Given the description of an element on the screen output the (x, y) to click on. 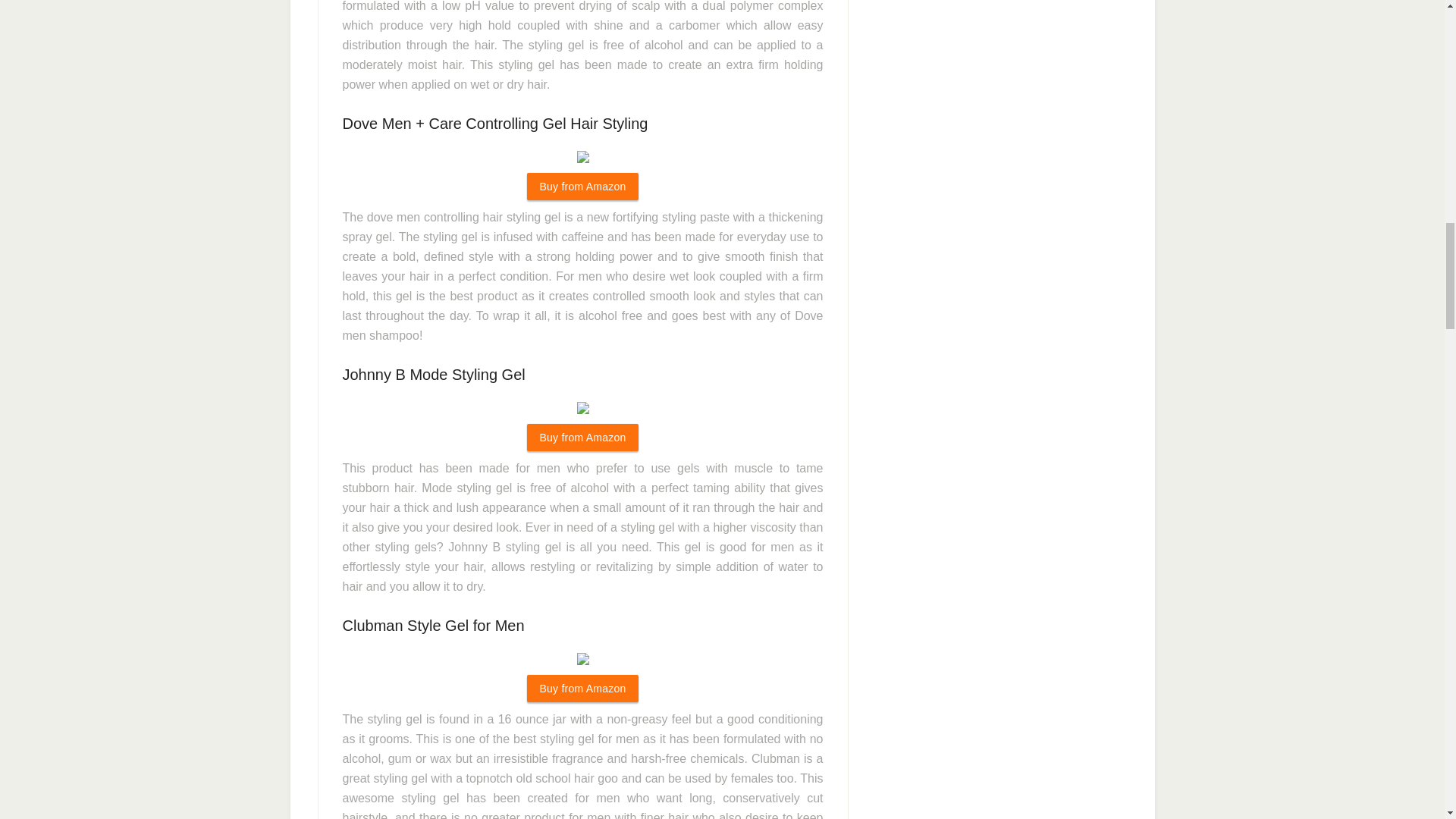
Buy from Amazon (582, 687)
Buy from Amazon (582, 437)
Buy from Amazon (582, 185)
